Given the description of an element on the screen output the (x, y) to click on. 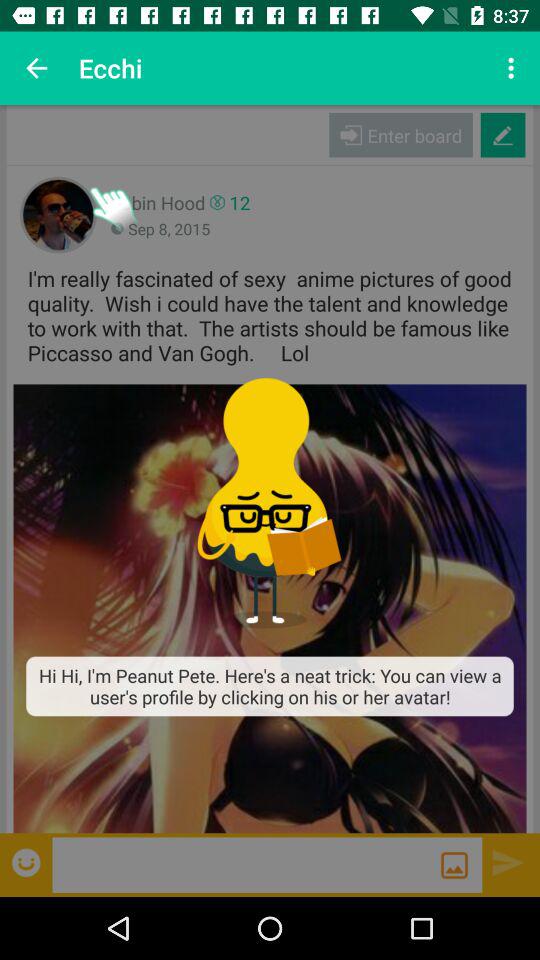
click the item below i m really (269, 608)
